Given the description of an element on the screen output the (x, y) to click on. 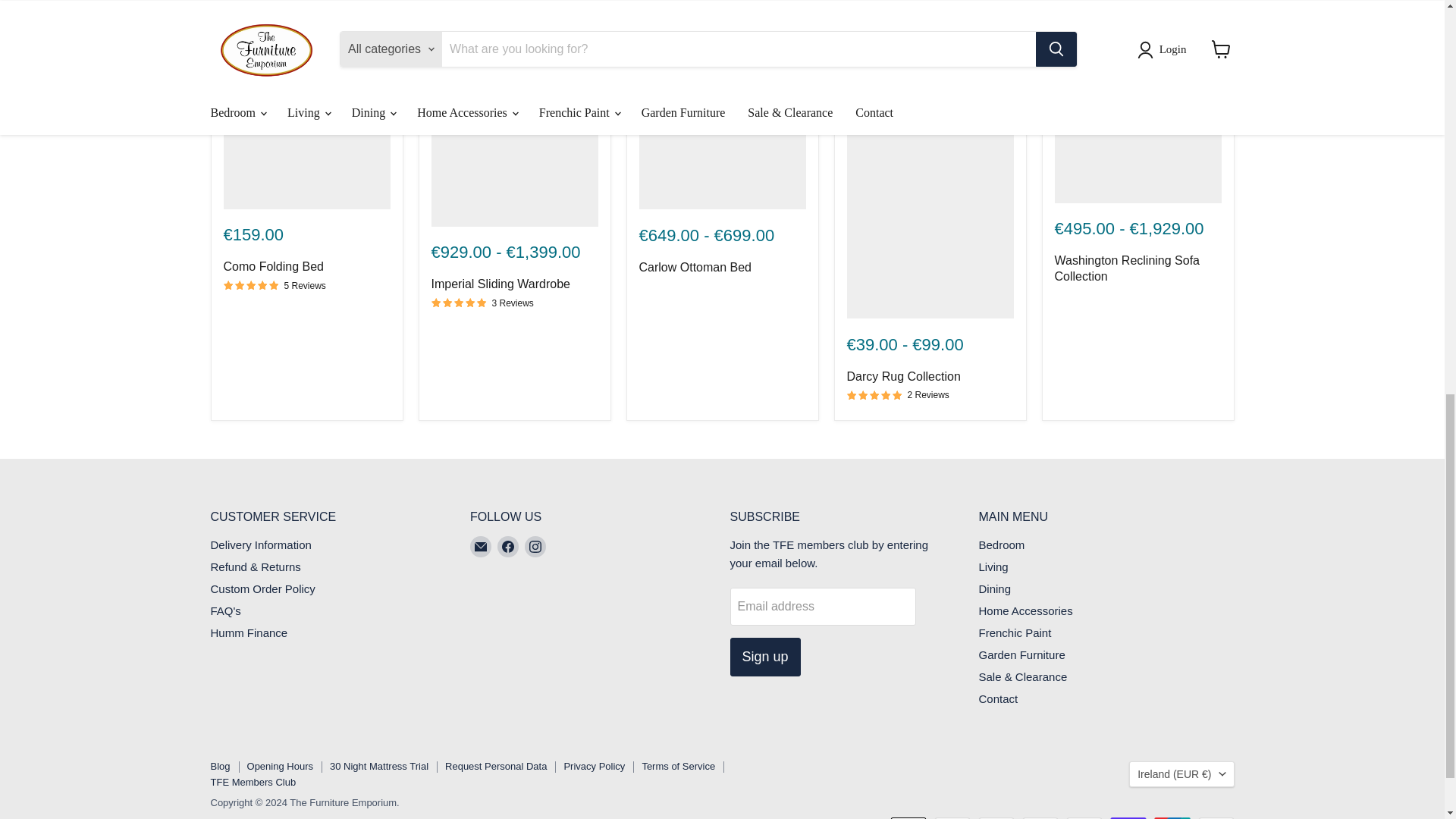
Instagram (535, 546)
Email (481, 546)
Facebook (507, 546)
